Given the description of an element on the screen output the (x, y) to click on. 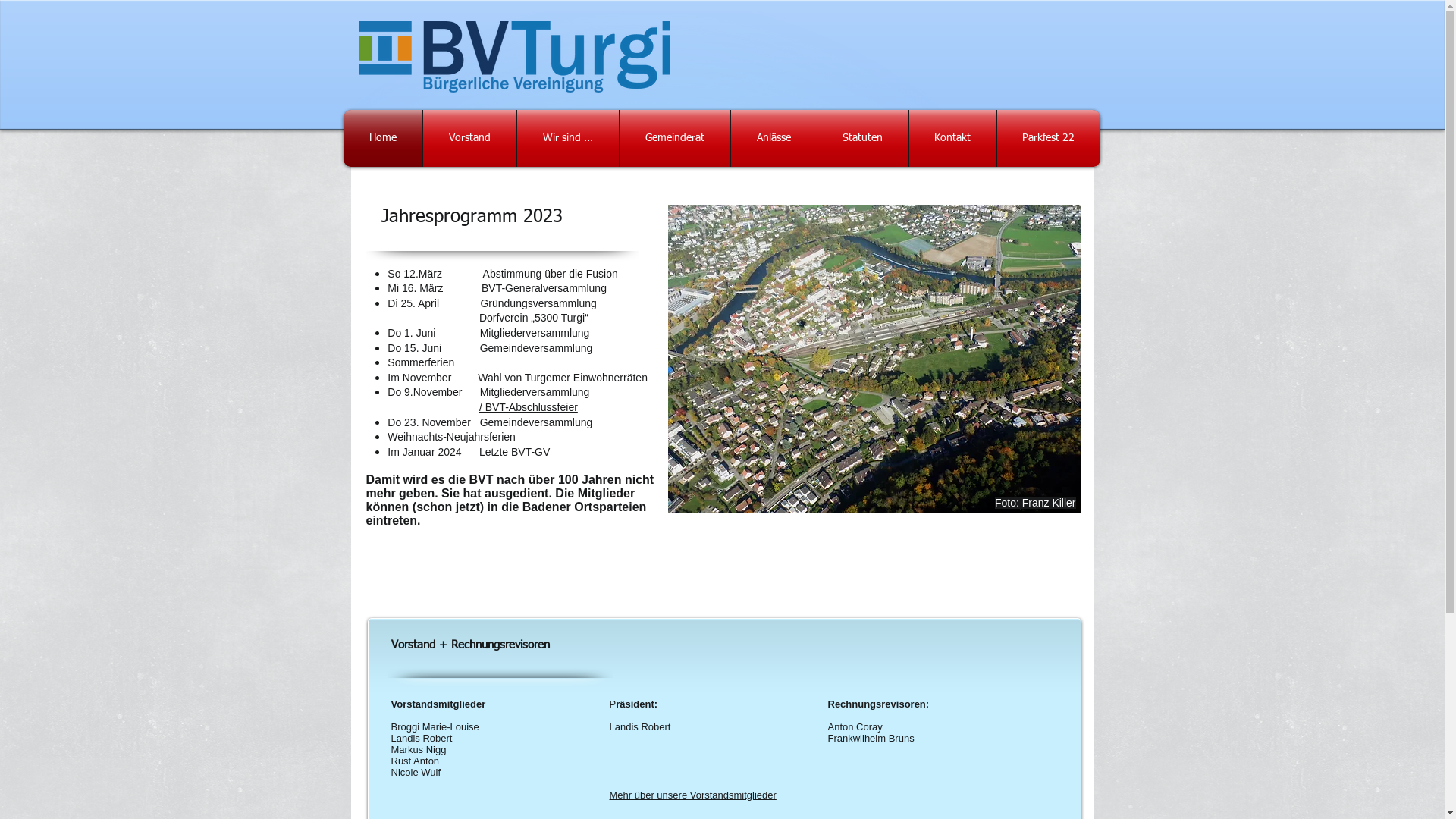
Final_BVTurgi_logo_RGB.png Element type: hover (514, 56)
Vorstand Element type: text (469, 137)
Kontakt Element type: text (951, 137)
Wir sind ... Element type: text (567, 137)
Statuten Element type: text (862, 137)
Home Element type: text (381, 137)
Gemeinderat Element type: text (673, 137)
Parkfest 22 Element type: text (1047, 137)
